Given the description of an element on the screen output the (x, y) to click on. 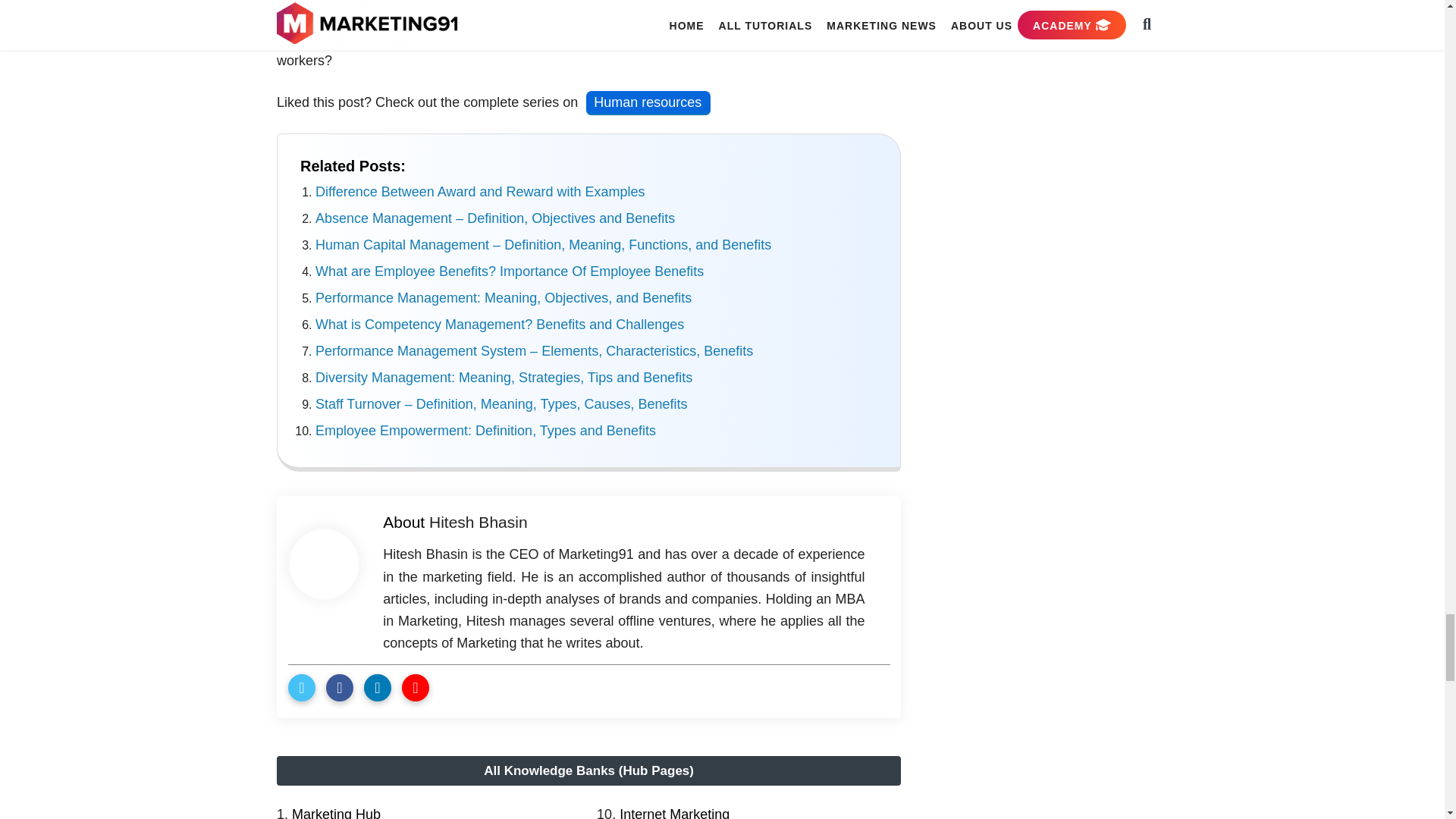
What are Employee Benefits? Importance Of Employee Benefits (509, 271)
Difference Between Award and Reward with Examples (480, 191)
